Given the description of an element on the screen output the (x, y) to click on. 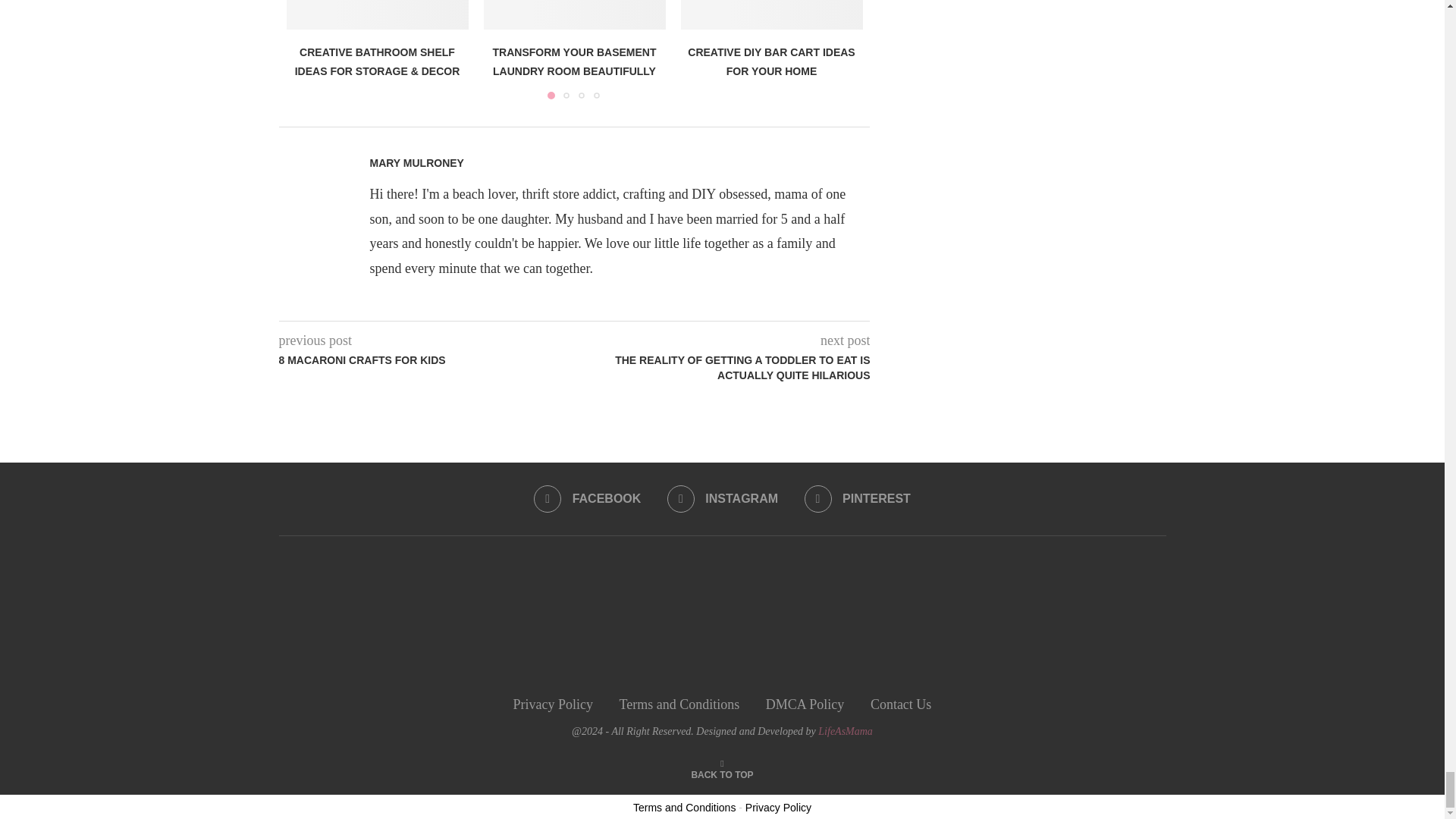
Transform Your Basement Laundry Room Beautifully (574, 14)
Creative DIY Bar Cart Ideas for Your Home (772, 14)
Author Mary Mulroney (416, 163)
